Given the description of an element on the screen output the (x, y) to click on. 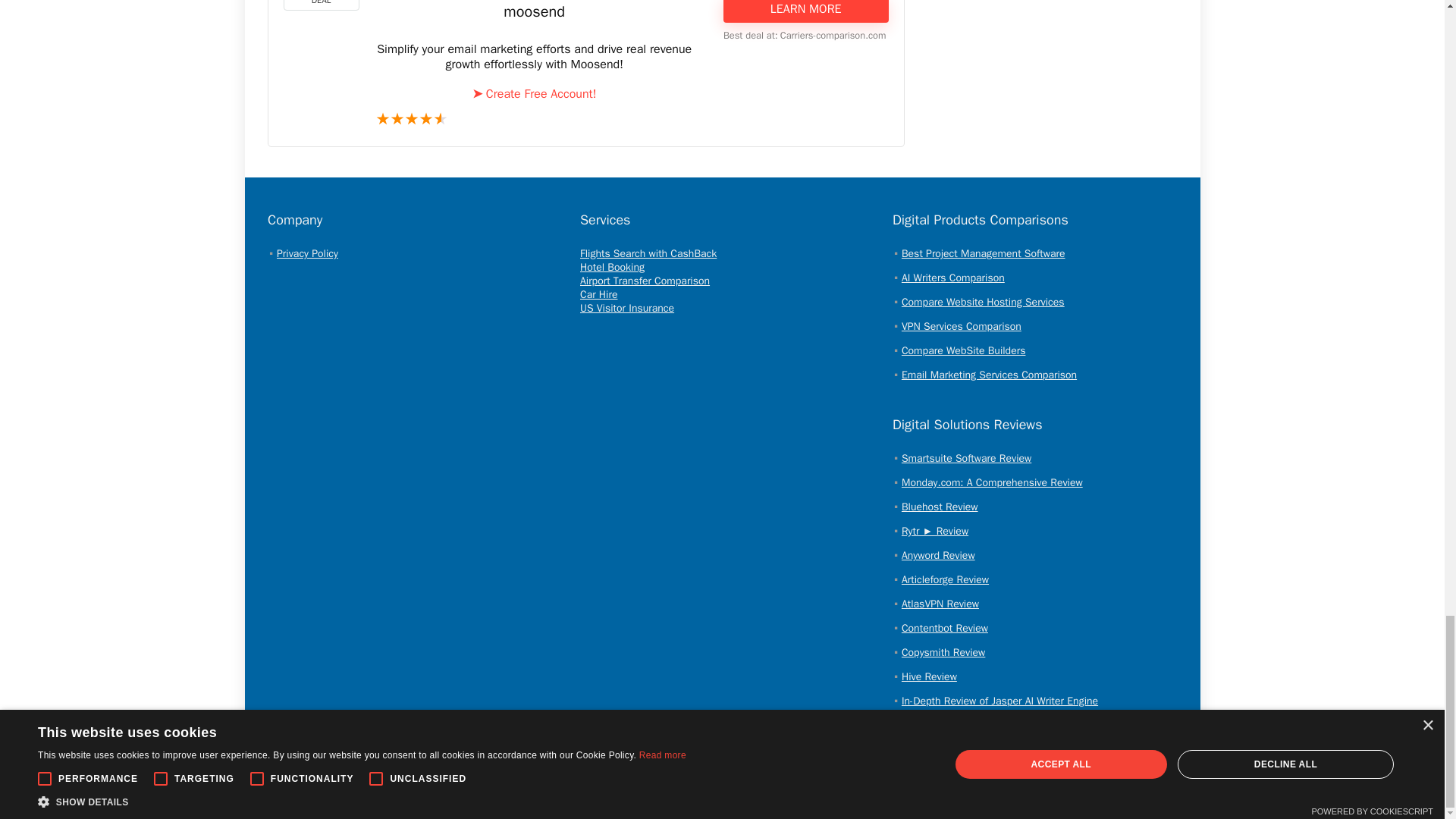
Rated 9.1 out of 10 (534, 119)
